Given the description of an element on the screen output the (x, y) to click on. 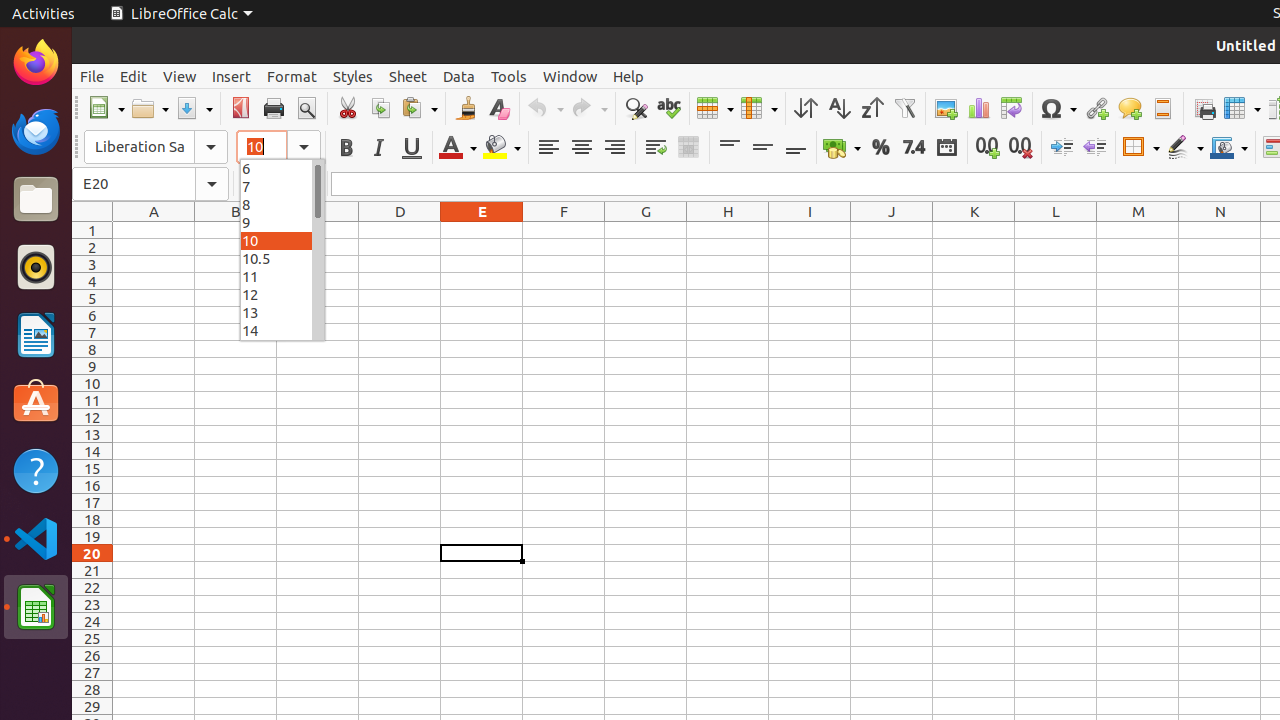
Ubuntu Software Element type: push-button (36, 402)
Spelling Element type: push-button (668, 108)
M1 Element type: table-cell (1138, 230)
H1 Element type: table-cell (728, 230)
I1 Element type: table-cell (810, 230)
